Given the description of an element on the screen output the (x, y) to click on. 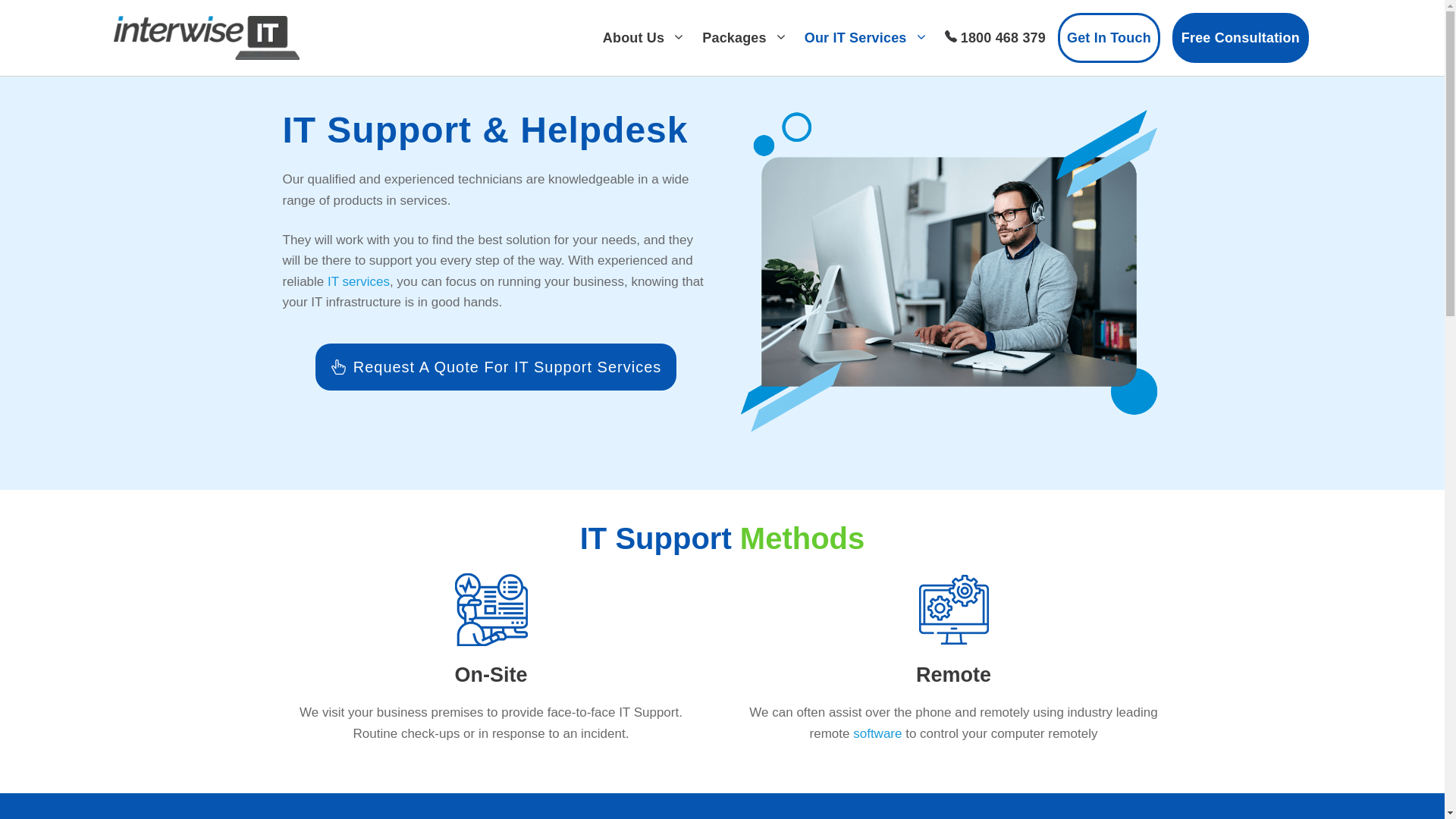
asset-management (953, 609)
Get In Touch (1109, 38)
monitoring (490, 609)
Our IT Services (865, 37)
Free Consultation (1240, 38)
1800 468 379 (995, 37)
About Us (644, 37)
Packages (744, 37)
